Given the description of an element on the screen output the (x, y) to click on. 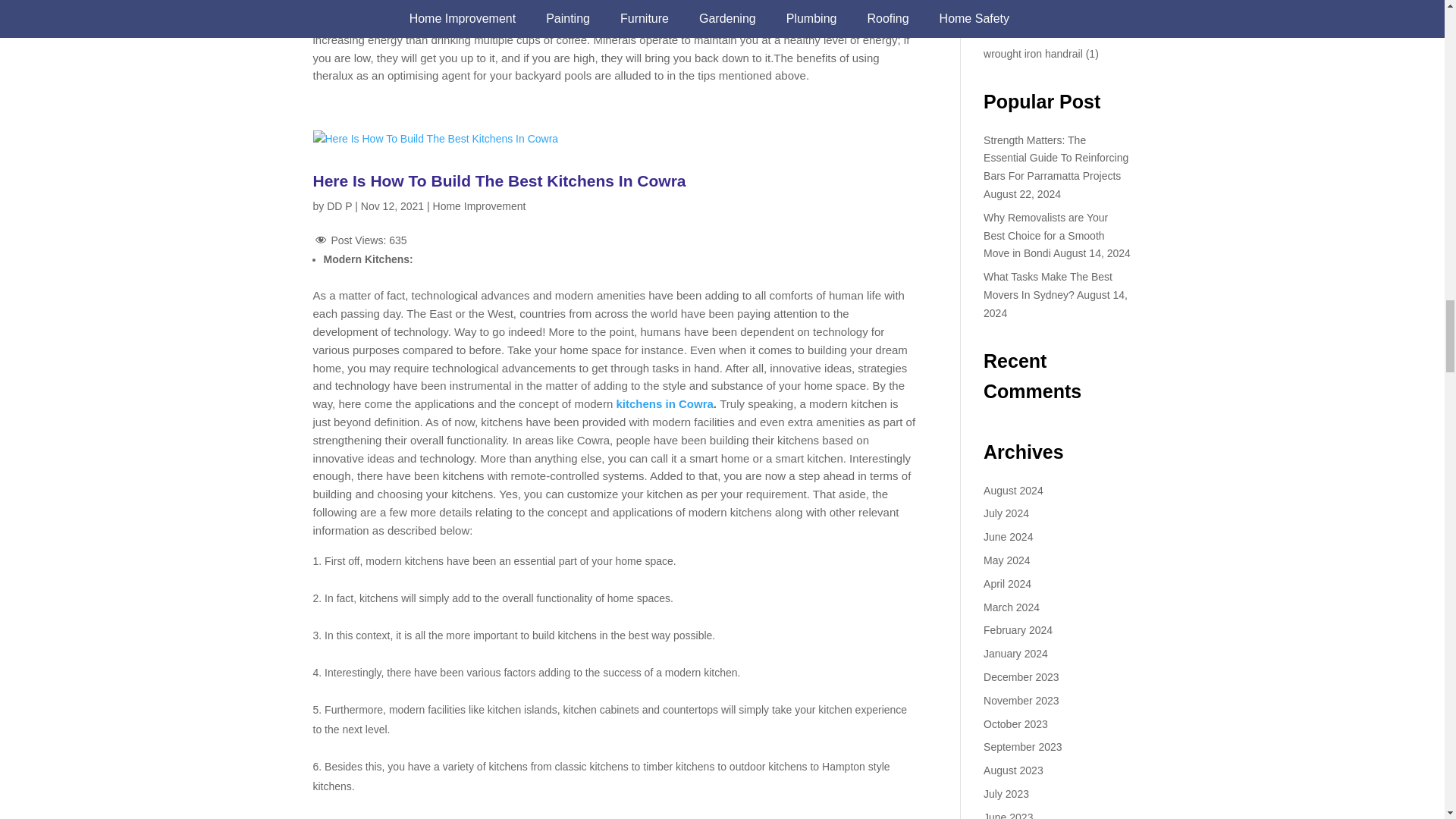
Here Is How To Build The Best Kitchens In Cowra (499, 180)
Home Improvement (478, 205)
Posts by DD P (339, 205)
DD P (339, 205)
